Given the description of an element on the screen output the (x, y) to click on. 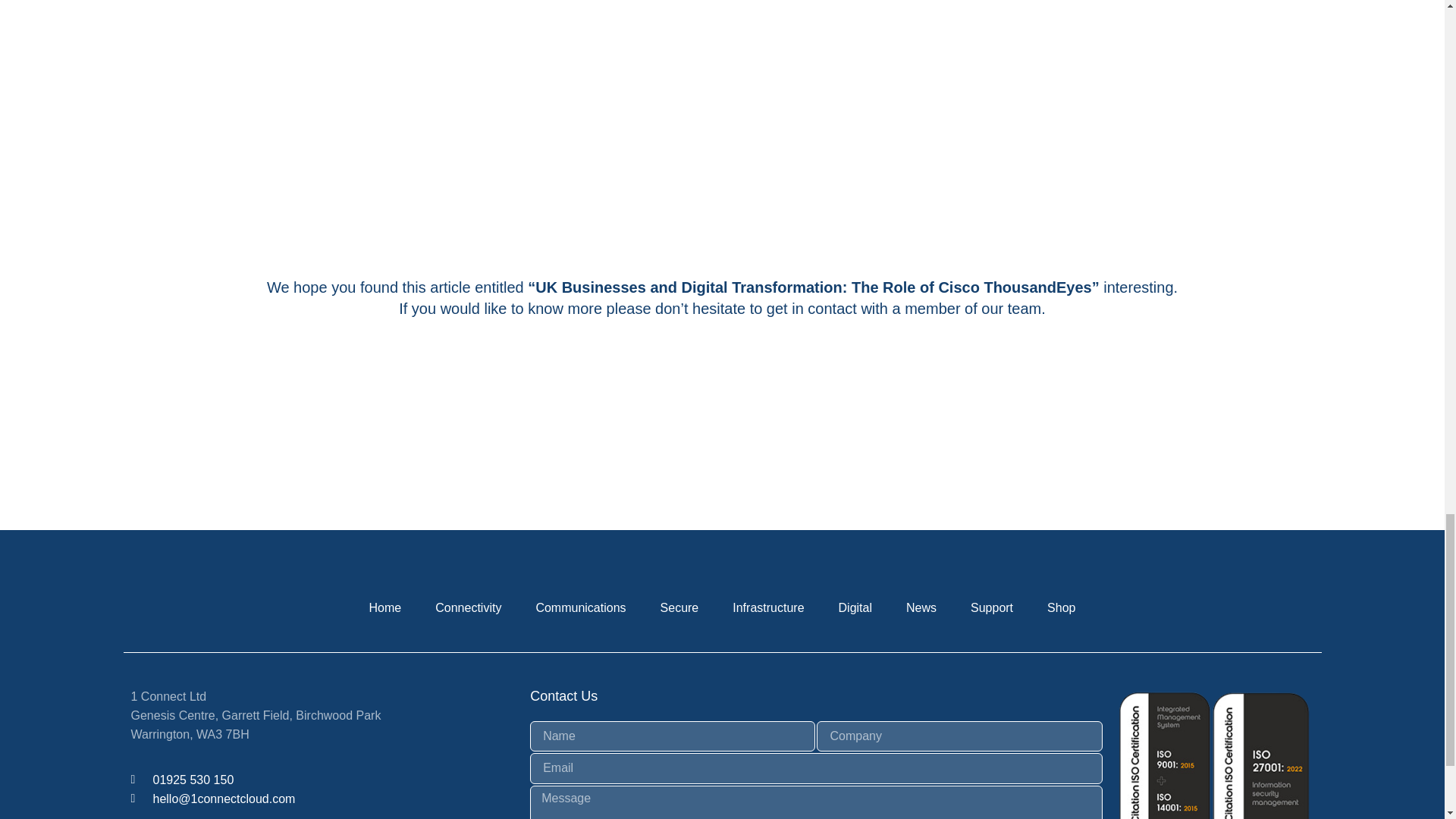
Infrastructure (767, 607)
Communications (579, 607)
Support (991, 607)
Digital (855, 607)
Shop (1061, 607)
Secure (679, 607)
Connectivity (468, 607)
Home (384, 607)
